Given the description of an element on the screen output the (x, y) to click on. 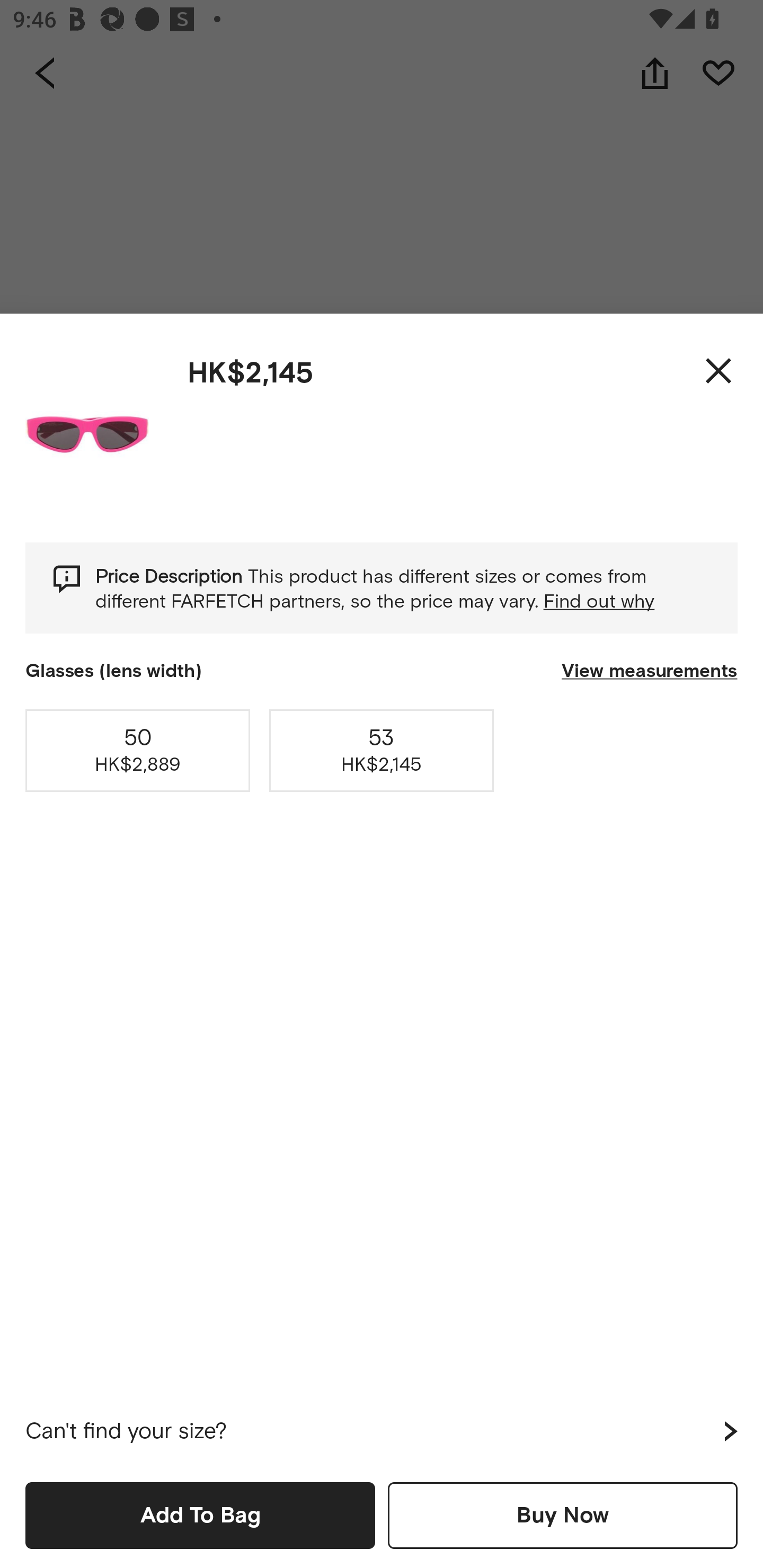
50 HK$2,889 (137, 749)
53 HK$2,145 (381, 749)
Can't find your size? (381, 1431)
Add To Bag (200, 1515)
Buy Now (562, 1515)
